Given the description of an element on the screen output the (x, y) to click on. 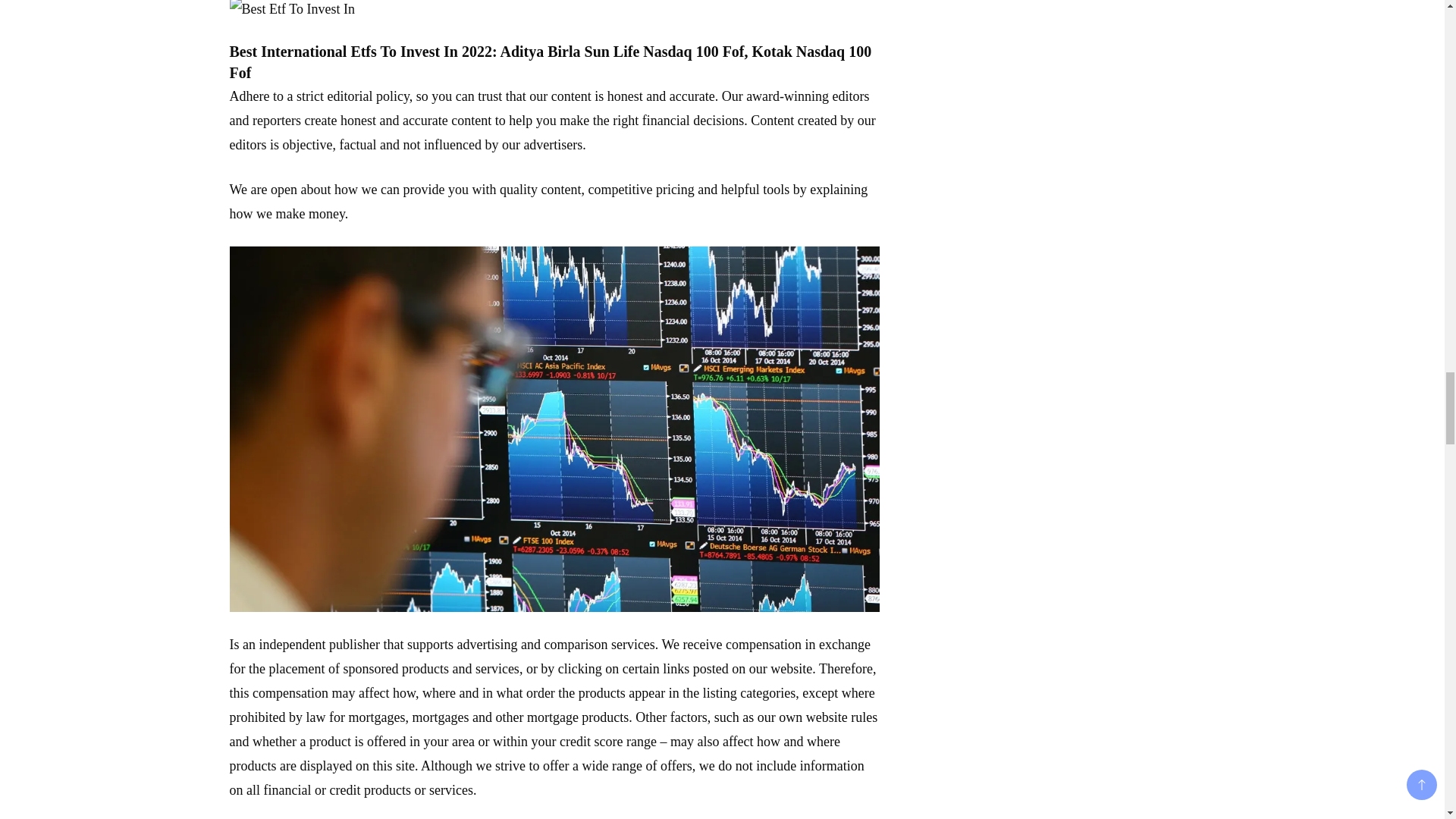
Best Etf To Invest In (290, 10)
